Given the description of an element on the screen output the (x, y) to click on. 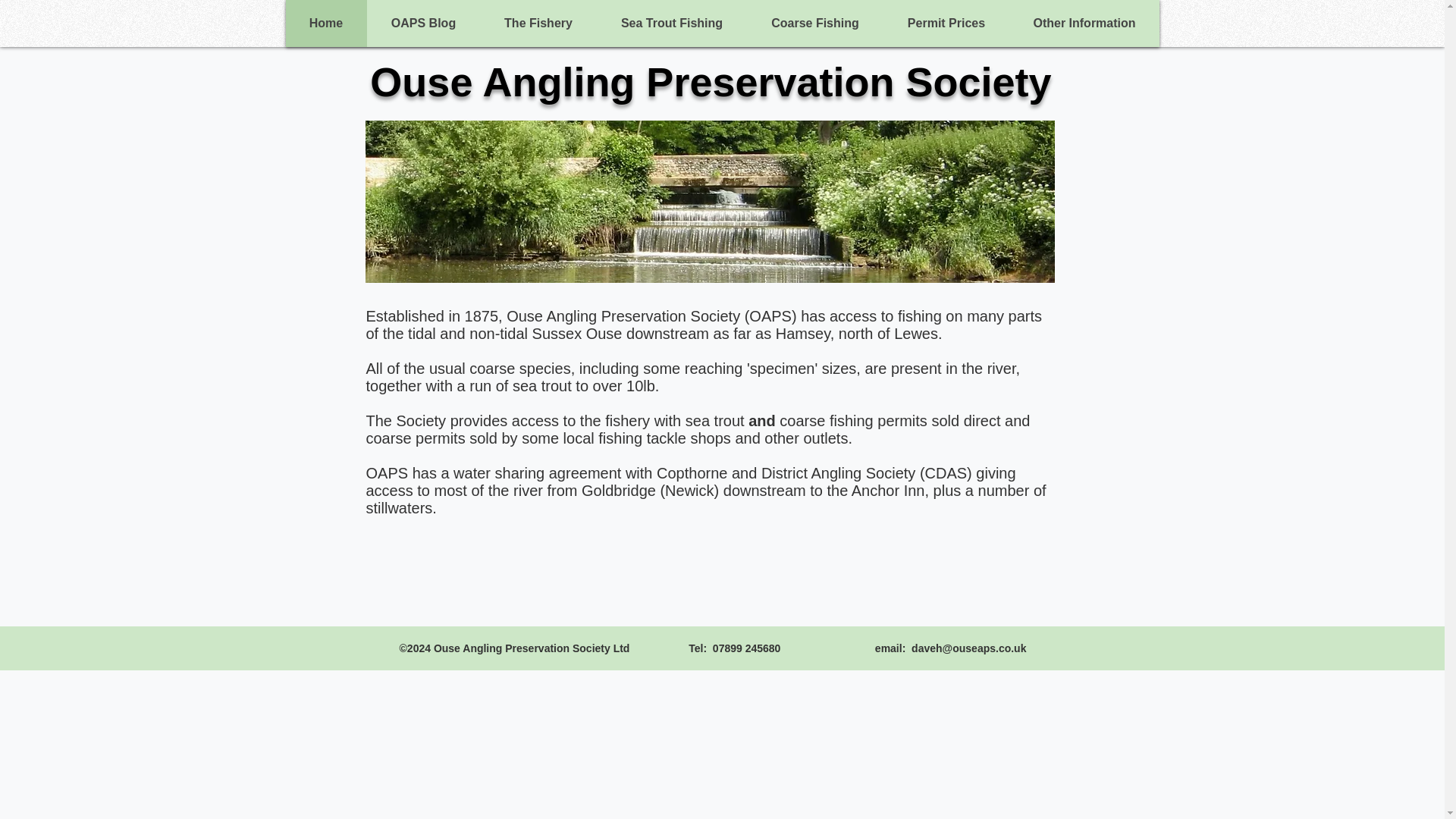
Permit Prices (945, 23)
Other Information (1083, 23)
Coarse Fishing (813, 23)
Home (325, 23)
Sea Trout Fishing (670, 23)
OAPS Blog (423, 23)
The Fishery (537, 23)
